Given the description of an element on the screen output the (x, y) to click on. 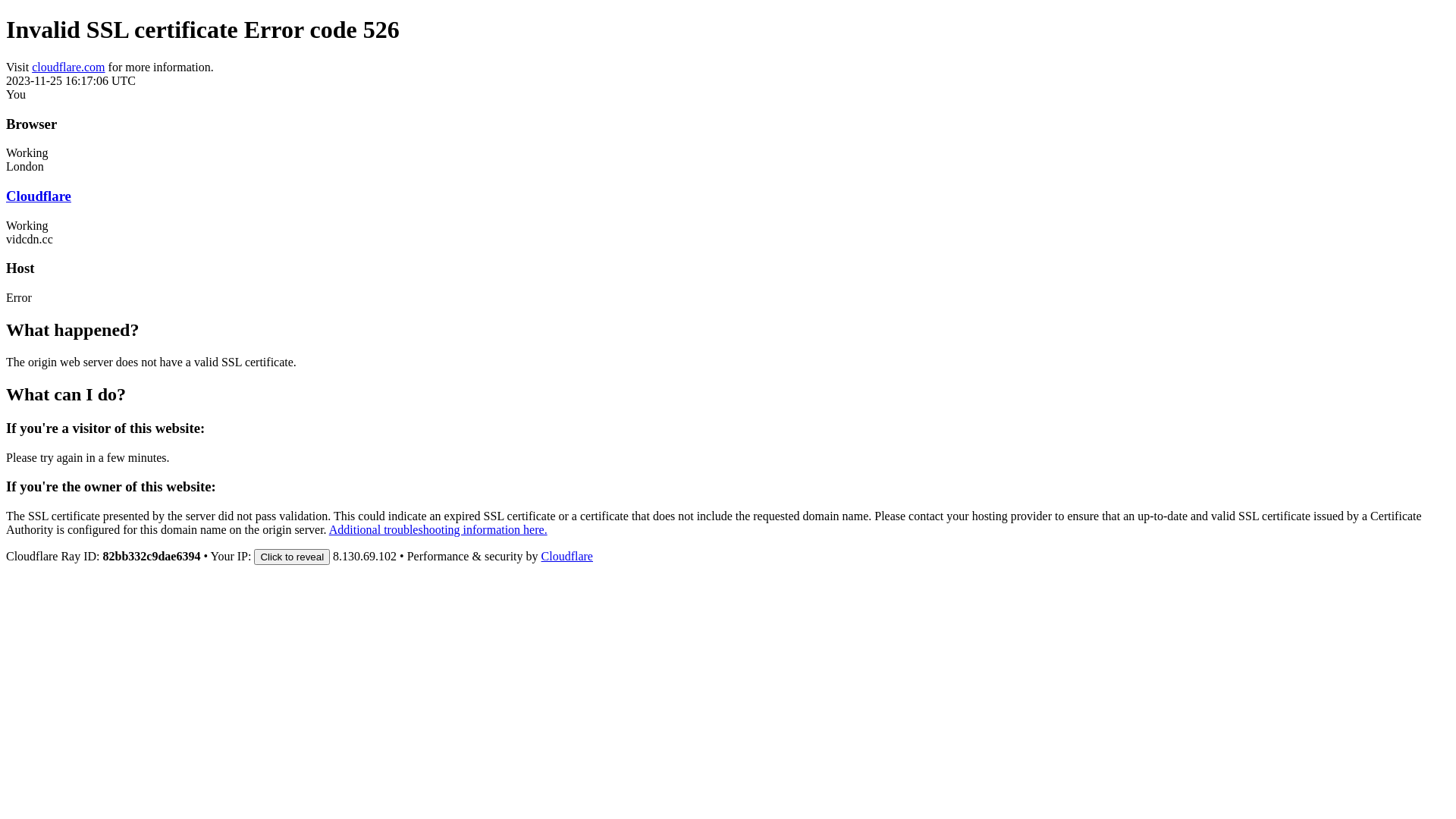
Click to reveal Element type: text (291, 556)
Cloudflare Element type: text (567, 555)
Cloudflare Element type: text (38, 195)
Additional troubleshooting information here. Element type: text (438, 529)
cloudflare.com Element type: text (67, 66)
